Given the description of an element on the screen output the (x, y) to click on. 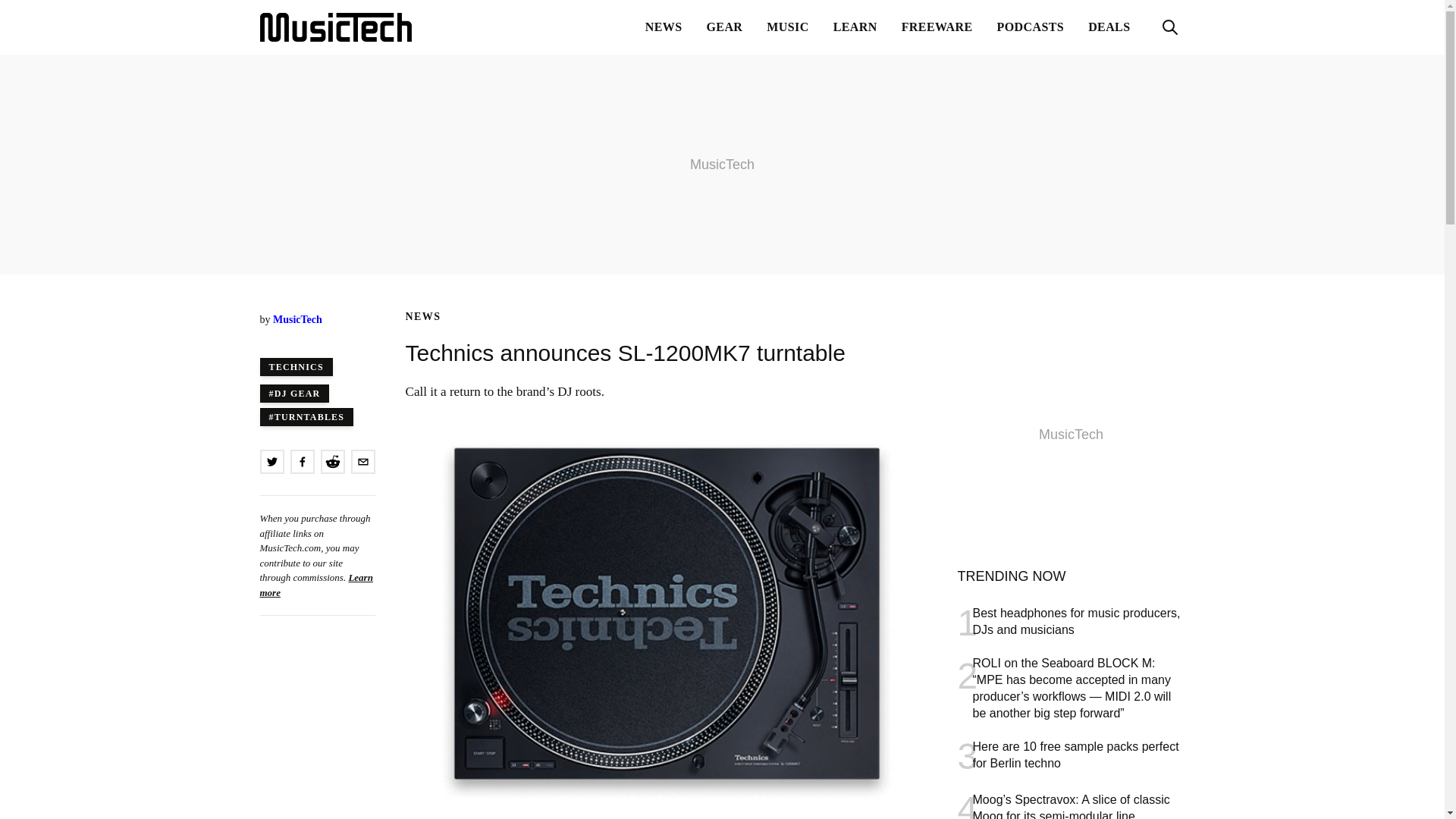
PODCASTS (1030, 27)
NEWS (422, 316)
Technics (295, 366)
Published January 8, 2019 9:19AM (316, 335)
LEARN (855, 27)
GEAR (724, 27)
MusicTech (297, 319)
News (422, 316)
Turntables (1070, 757)
DJ Gear (306, 416)
DEALS (294, 393)
NEWS (1108, 27)
MusicTech (663, 27)
Learn more (334, 27)
